Given the description of an element on the screen output the (x, y) to click on. 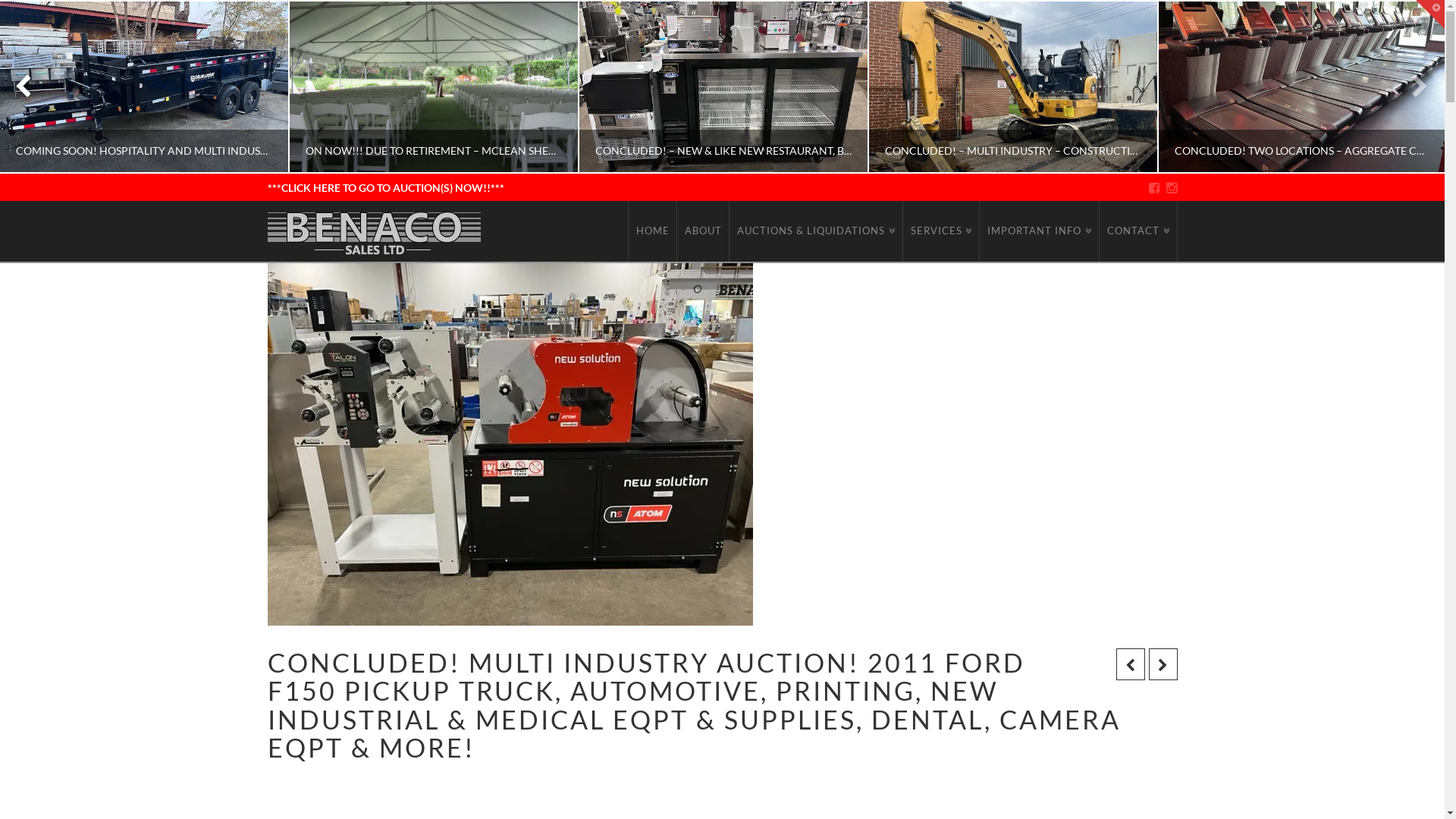
Toggle the Widgetbar Element type: text (1429, 14)
SERVICES Element type: text (941, 230)
Facebook Element type: hover (1153, 187)
Next Element type: text (1412, 86)
ABOUT Element type: text (703, 230)
CONTACT Element type: text (1138, 230)
Instagram Element type: hover (1171, 187)
IMPORTANT INFO Element type: text (1039, 230)
AUCTIONS & LIQUIDATIONS Element type: text (816, 230)
***CLICK HERE TO GO TO AUCTION(S) NOW!!*** Element type: text (384, 187)
HOME Element type: text (652, 230)
